Given the description of an element on the screen output the (x, y) to click on. 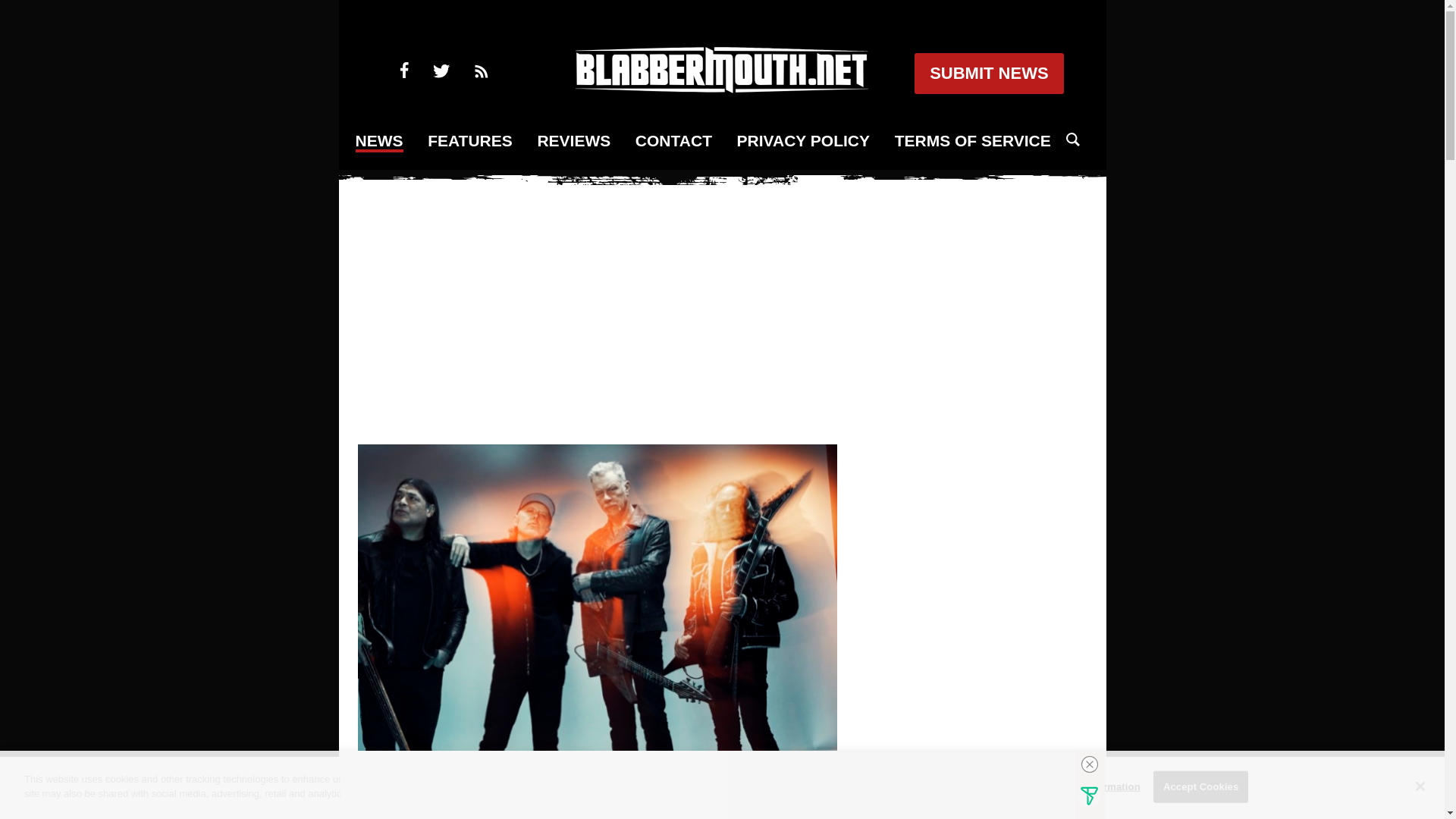
FEATURES (470, 140)
SUBMIT NEWS (988, 73)
NEWS (379, 141)
3rd party ad content (721, 310)
CONTACT (672, 140)
blabbermouth (721, 88)
PRIVACY POLICY (802, 140)
TERMS OF SERVICE (973, 140)
REVIEWS (573, 140)
search icon (1072, 139)
